Given the description of an element on the screen output the (x, y) to click on. 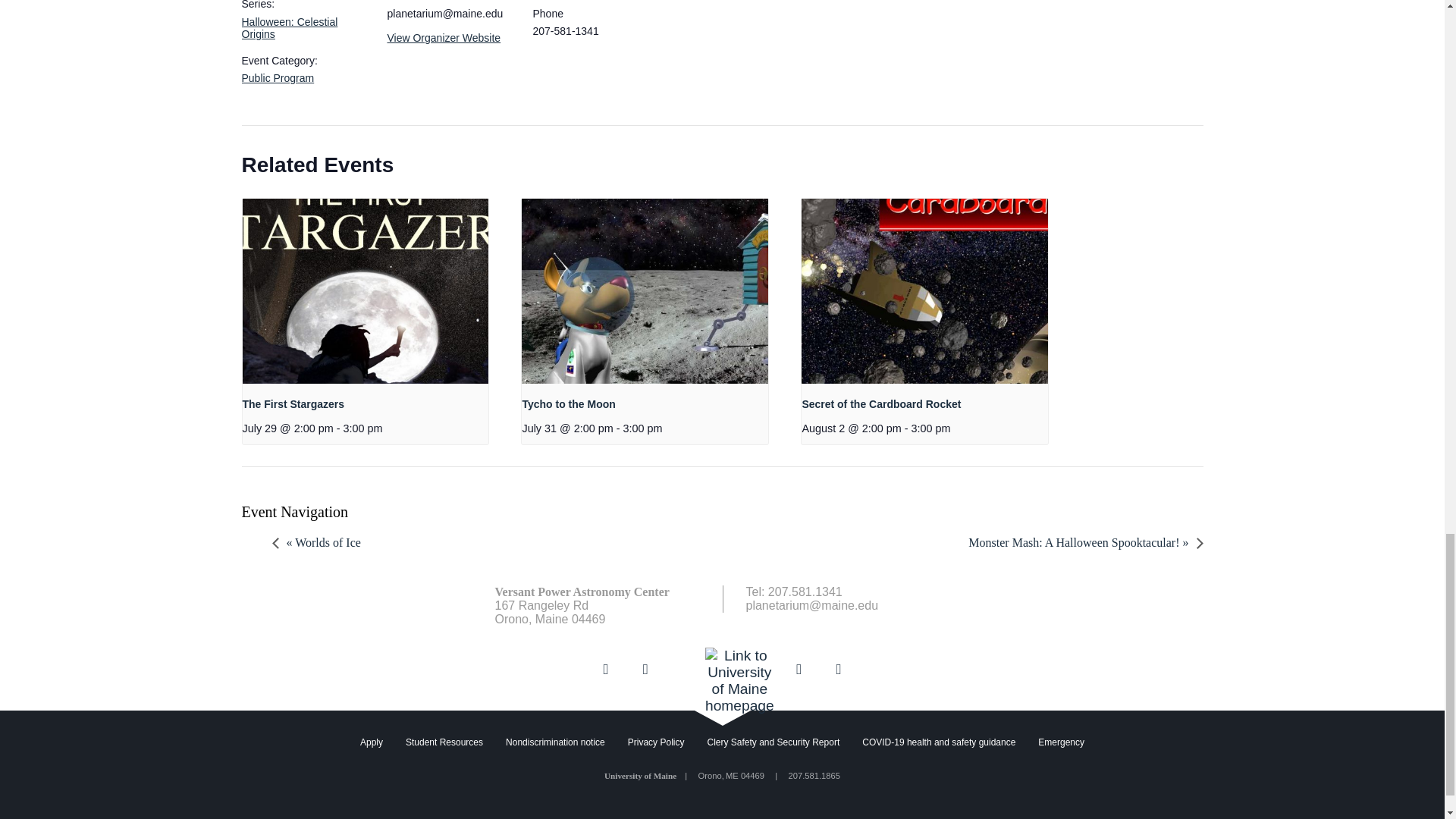
Halloween: Celestial Origins (289, 27)
